Given the description of an element on the screen output the (x, y) to click on. 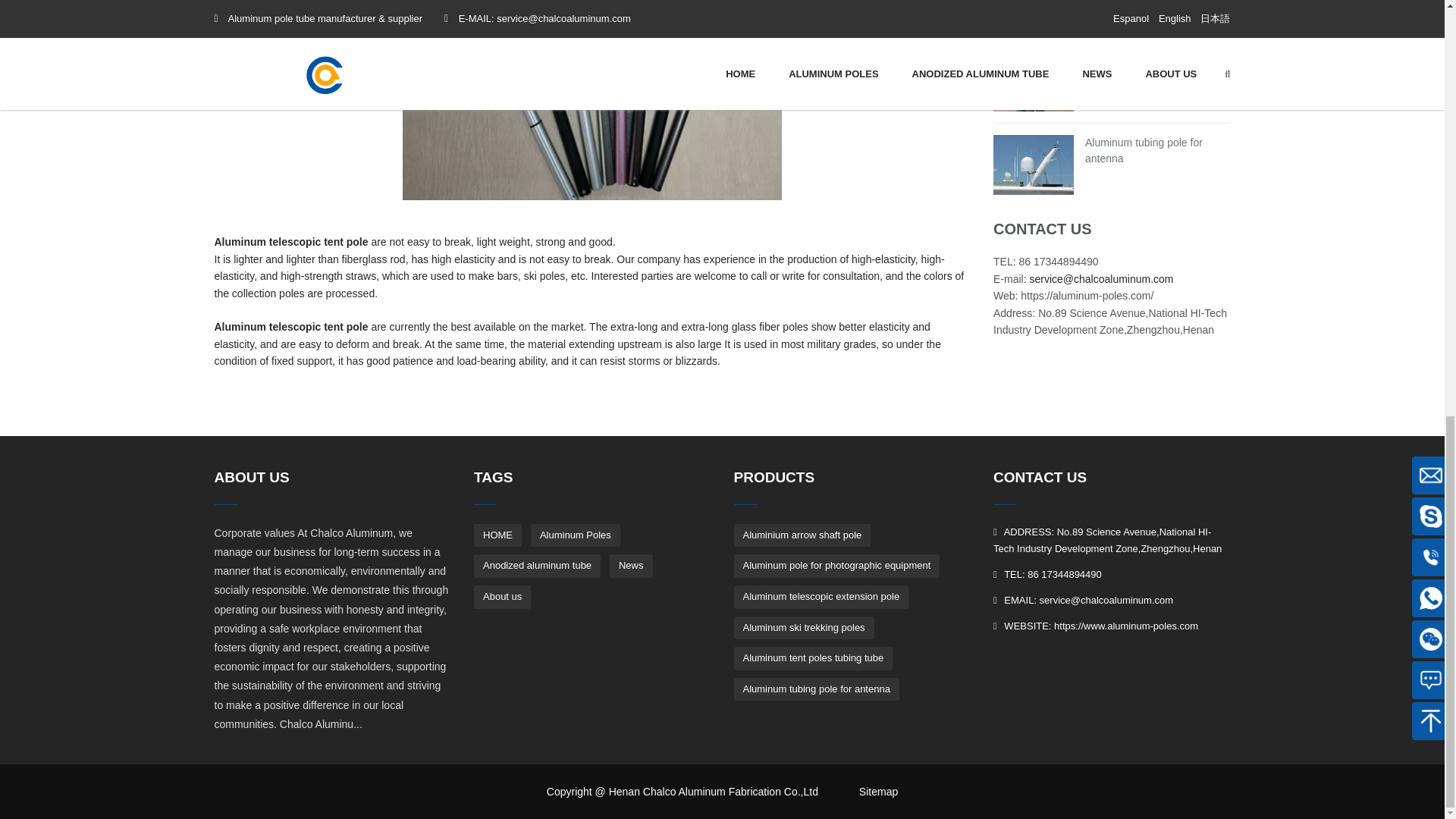
Aluminum Poles (575, 535)
Anodized aluminum tube (536, 566)
Aluminum tent poles tubing tube (1148, 67)
Antenna Aluminum Tube - Aluminum tubing pole for antenna (1143, 150)
HOME (497, 535)
News (631, 566)
Aluminum tubing pole for antenna (1143, 150)
Aluminum tent poles tubing (1148, 67)
